Given the description of an element on the screen output the (x, y) to click on. 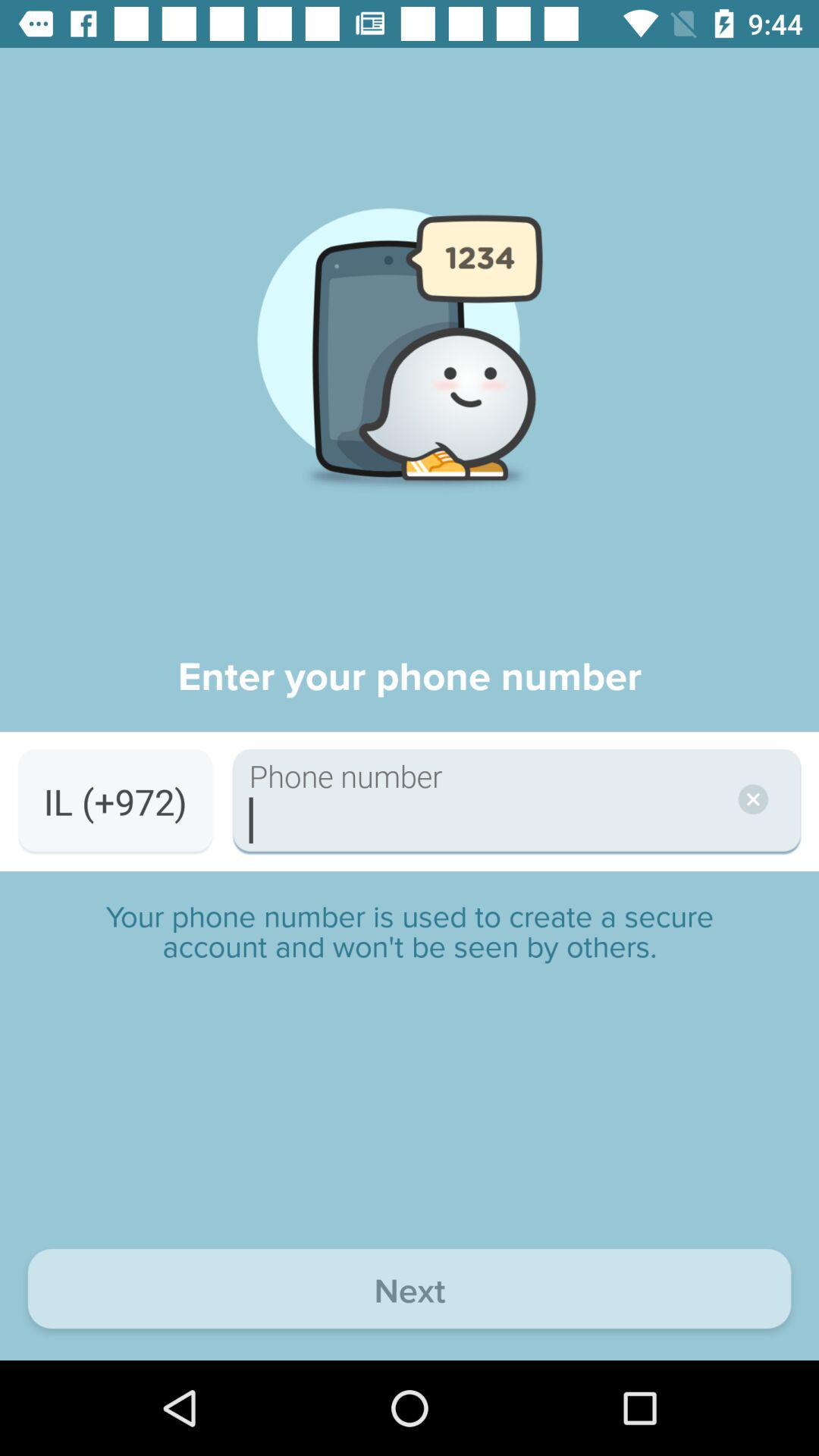
select next icon (409, 1292)
